Given the description of an element on the screen output the (x, y) to click on. 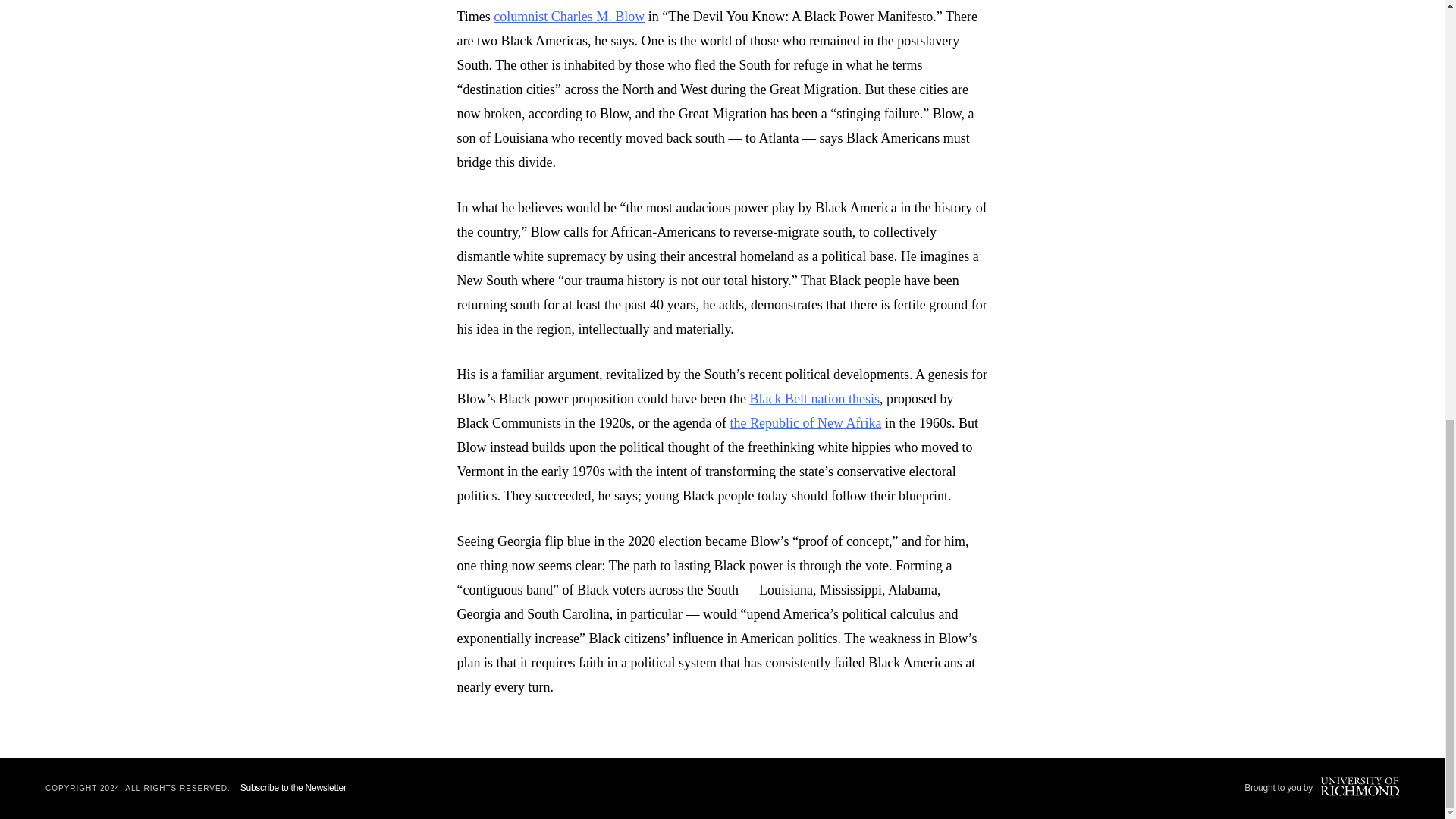
Black Belt nation thesis (814, 398)
columnist Charles M. Blow (569, 16)
Subscribe to the Newsletter (293, 787)
the Republic of New Afrika (804, 422)
